Given the description of an element on the screen output the (x, y) to click on. 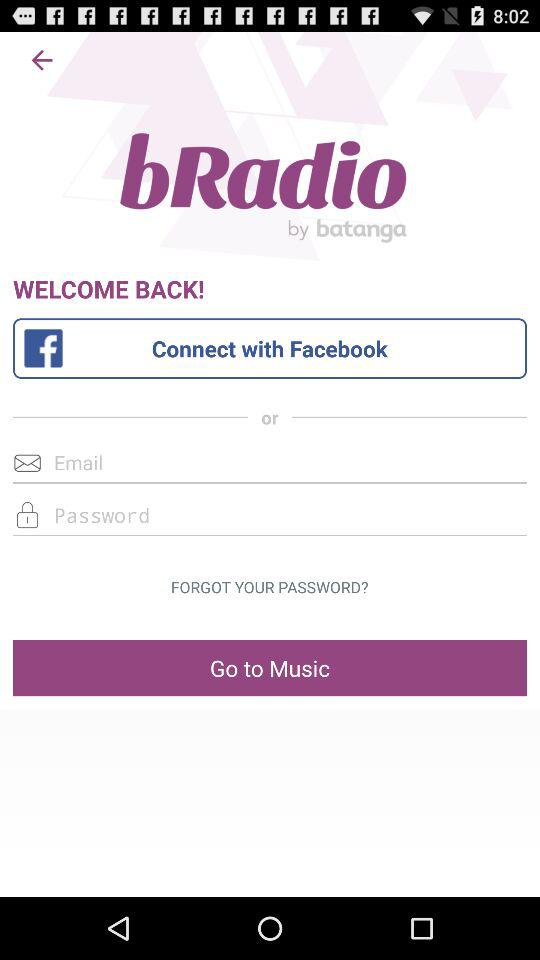
jump to forgot your password? button (269, 587)
